Given the description of an element on the screen output the (x, y) to click on. 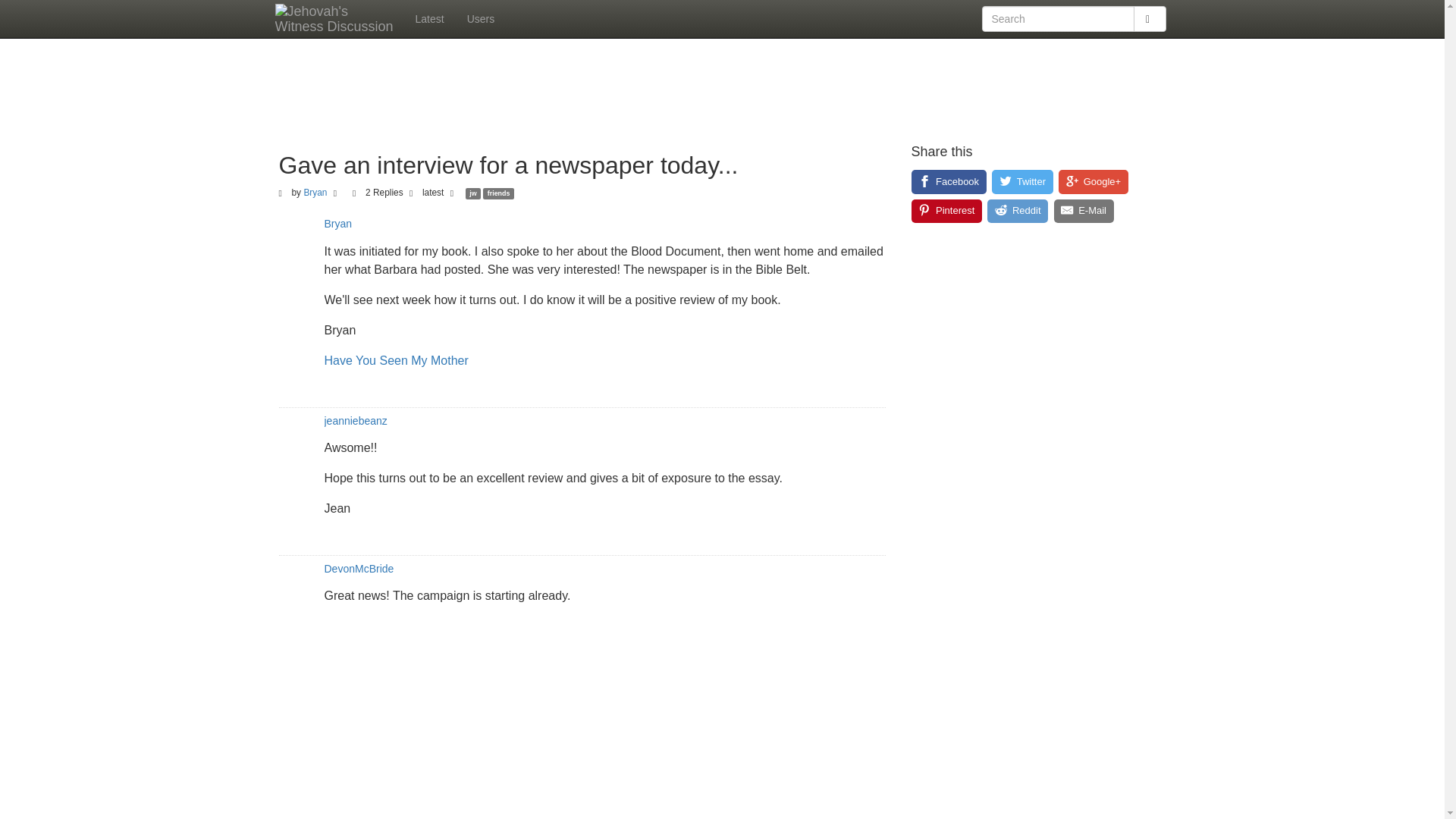
jeanniebeanz (355, 420)
Users (480, 18)
E-Mail (1083, 211)
Facebook (949, 181)
Have You Seen My Mother (396, 359)
Latest (428, 18)
Pinterest (946, 211)
jw (472, 192)
friends (498, 192)
Reddit (1017, 211)
